Given the description of an element on the screen output the (x, y) to click on. 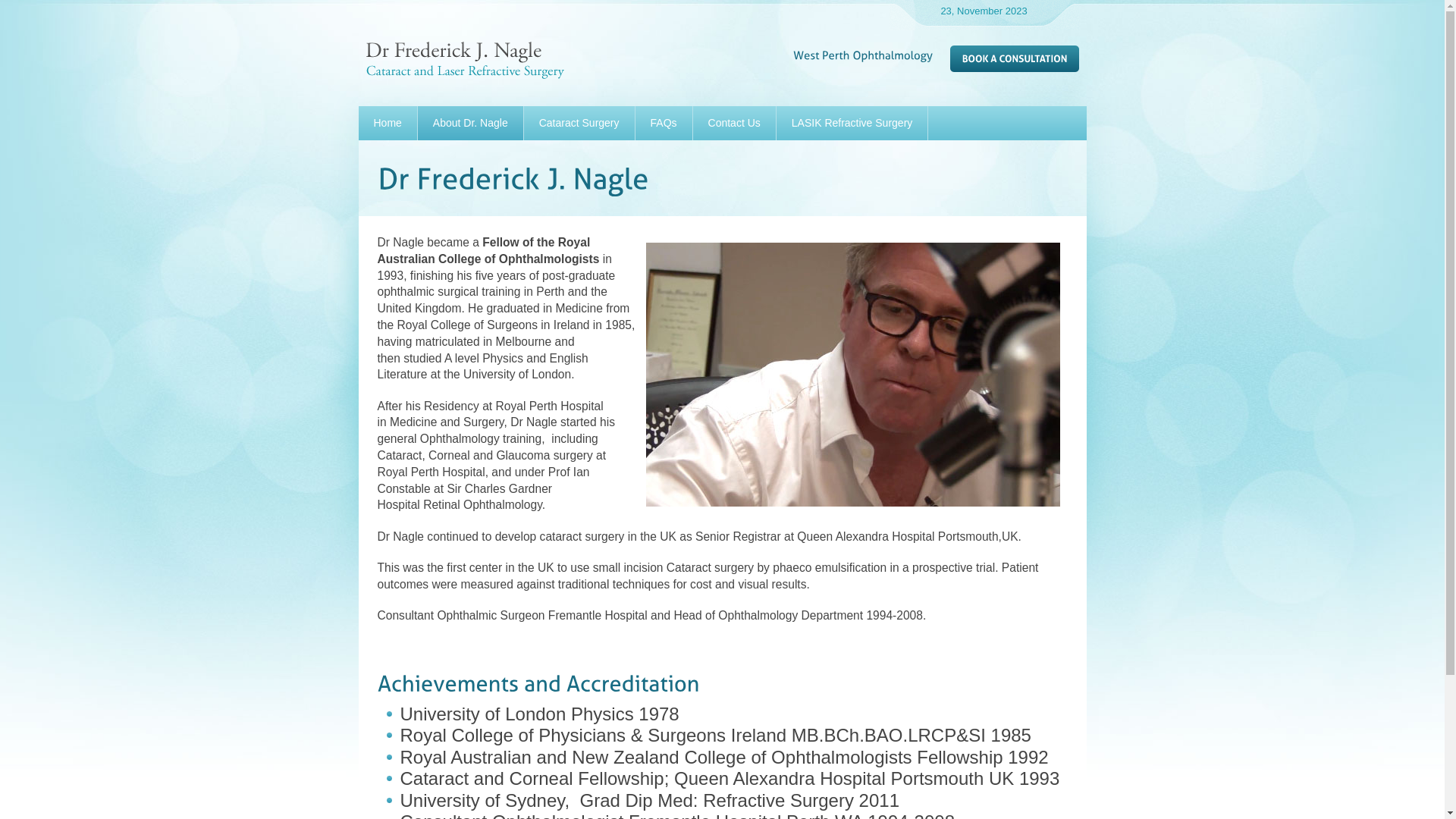
Home Element type: text (386, 123)
Cataract Surgery Element type: text (579, 123)
About Dr. Nagle Element type: text (470, 123)
FAQs Element type: text (663, 123)
Contact Us Element type: text (734, 123)
LASIK Refractive Surgery Element type: text (852, 123)
